Given the description of an element on the screen output the (x, y) to click on. 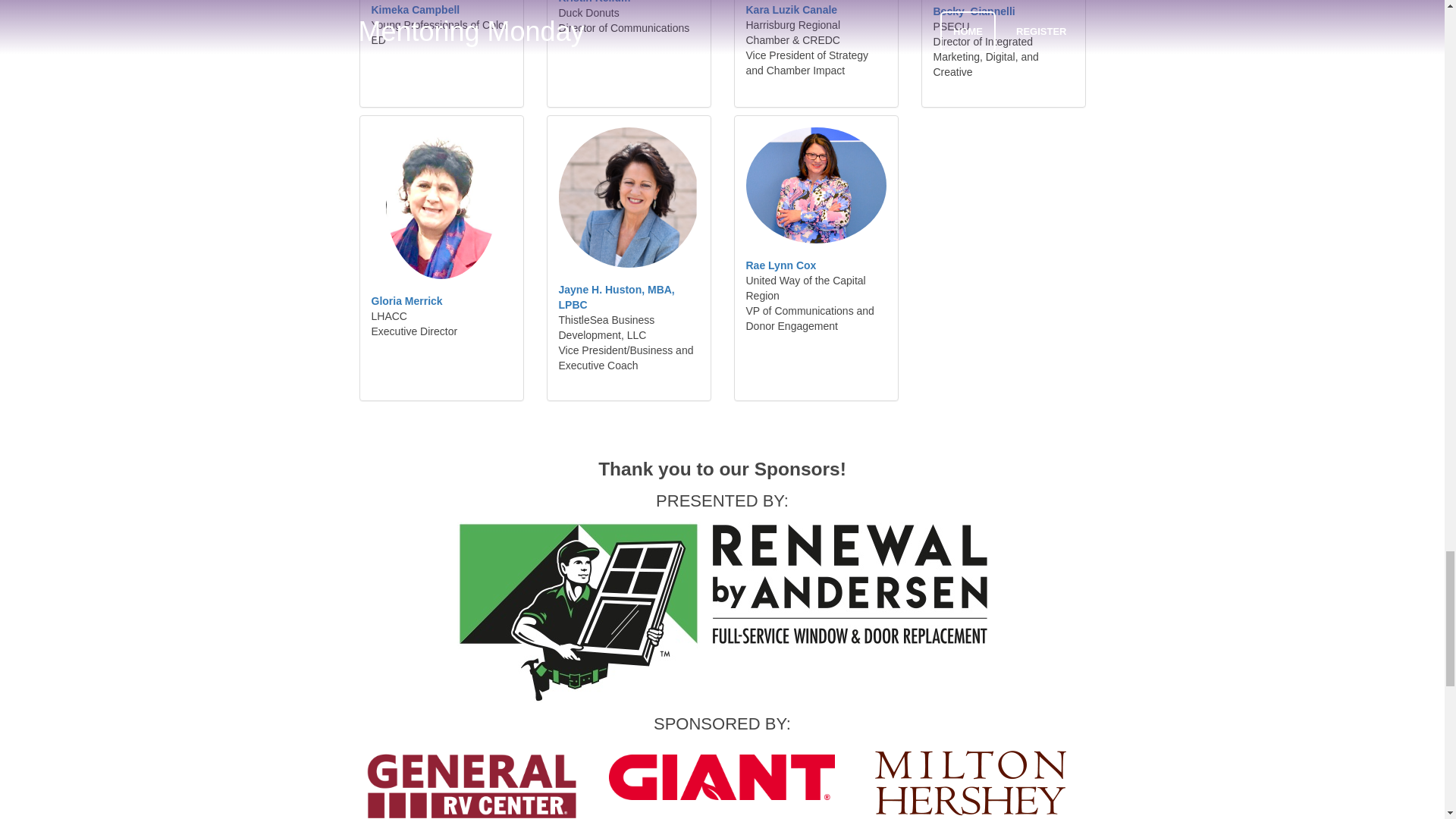
Gloria Merrick (406, 300)
Kristin Kellum (593, 2)
Becky  Giannelli (973, 10)
Rae Lynn Cox (780, 265)
Kimeka Campbell (415, 9)
Jayne H. Huston, MBA, LPBC (615, 297)
Kara Luzik Canale (791, 9)
